Given the description of an element on the screen output the (x, y) to click on. 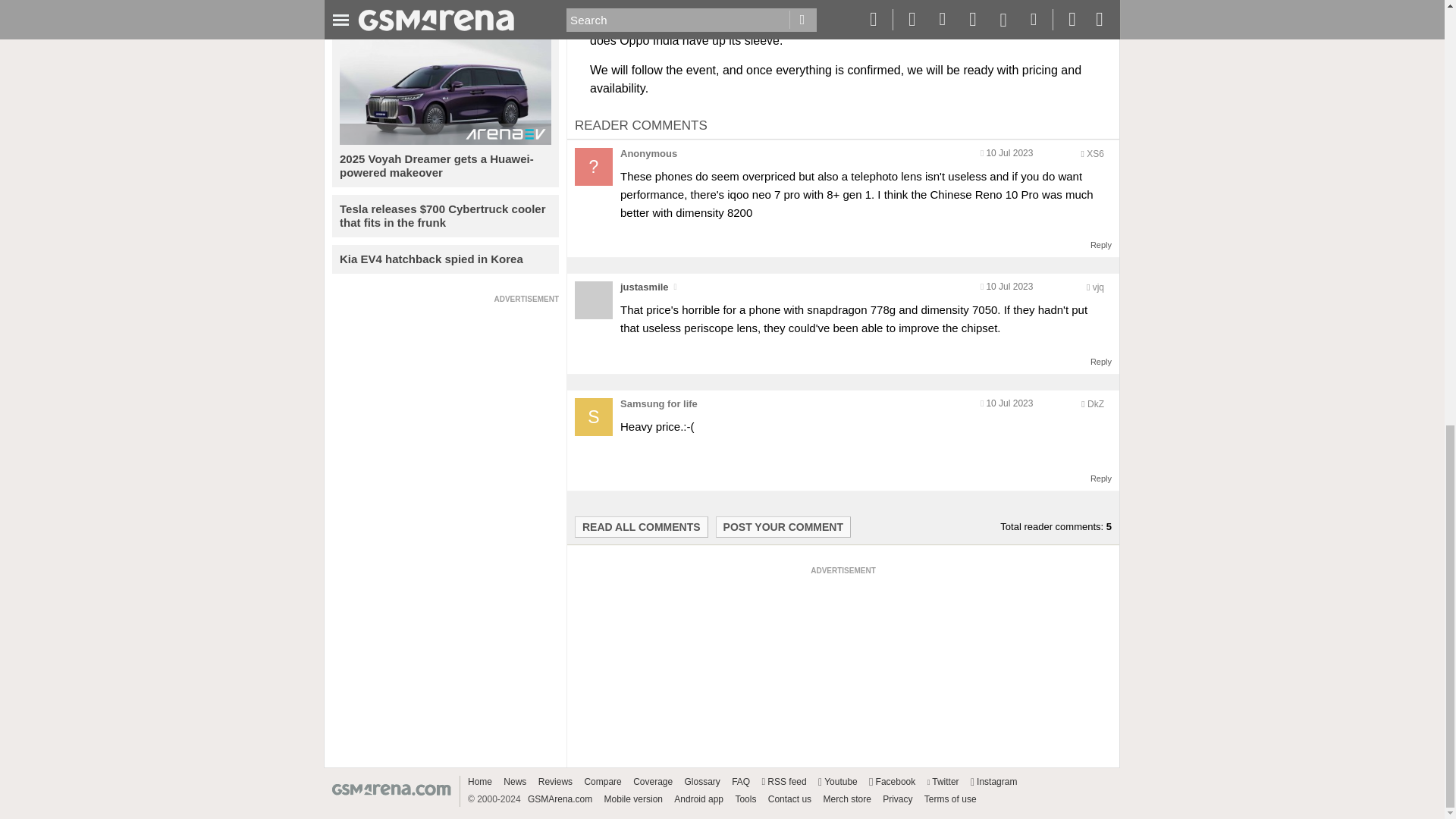
Encoded anonymized location (1095, 403)
Reply (1101, 244)
Encoded anonymized location (1094, 153)
Reply to this post (1101, 478)
Reply to this post (1101, 244)
READER COMMENTS (641, 124)
justasmile (644, 286)
Encoded anonymized location (1098, 286)
Reply to this post (1101, 361)
